Given the description of an element on the screen output the (x, y) to click on. 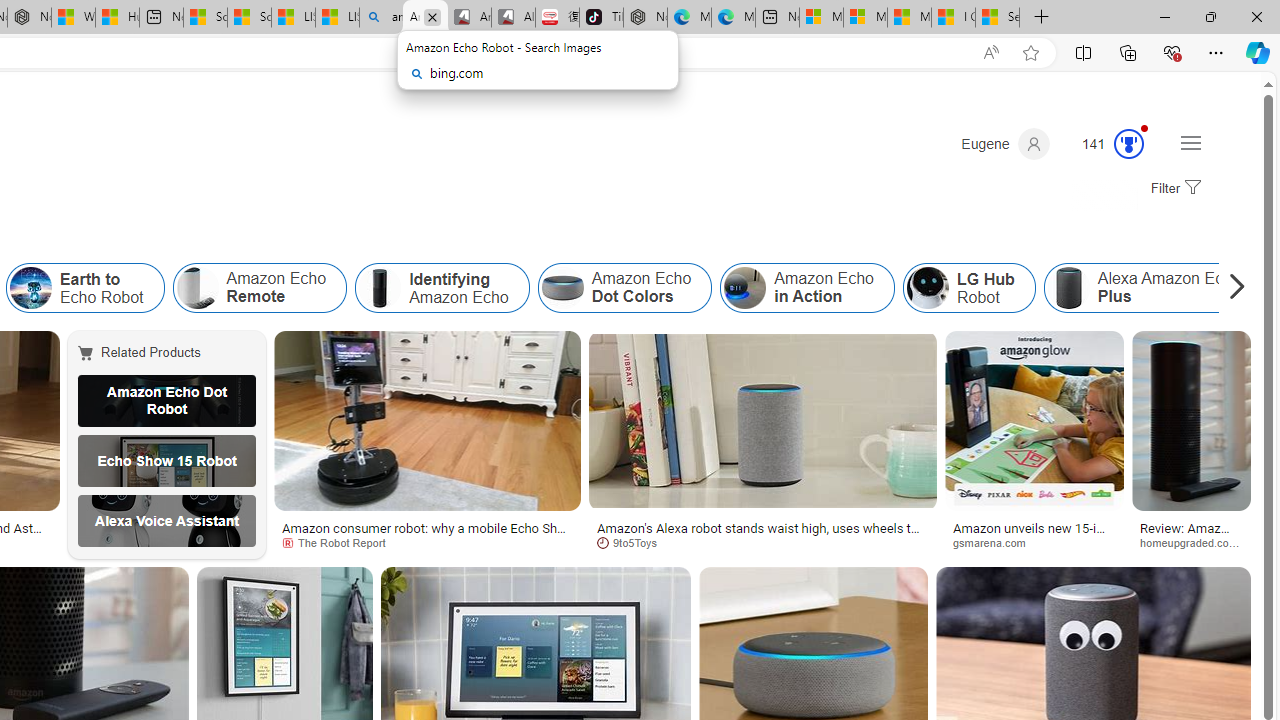
Amazon consumer robot: why a mobile Echo Show makes sense (427, 534)
9to5Toys (634, 541)
Settings and quick links (1190, 142)
Alexa Voice Assistant (167, 521)
